Given the description of an element on the screen output the (x, y) to click on. 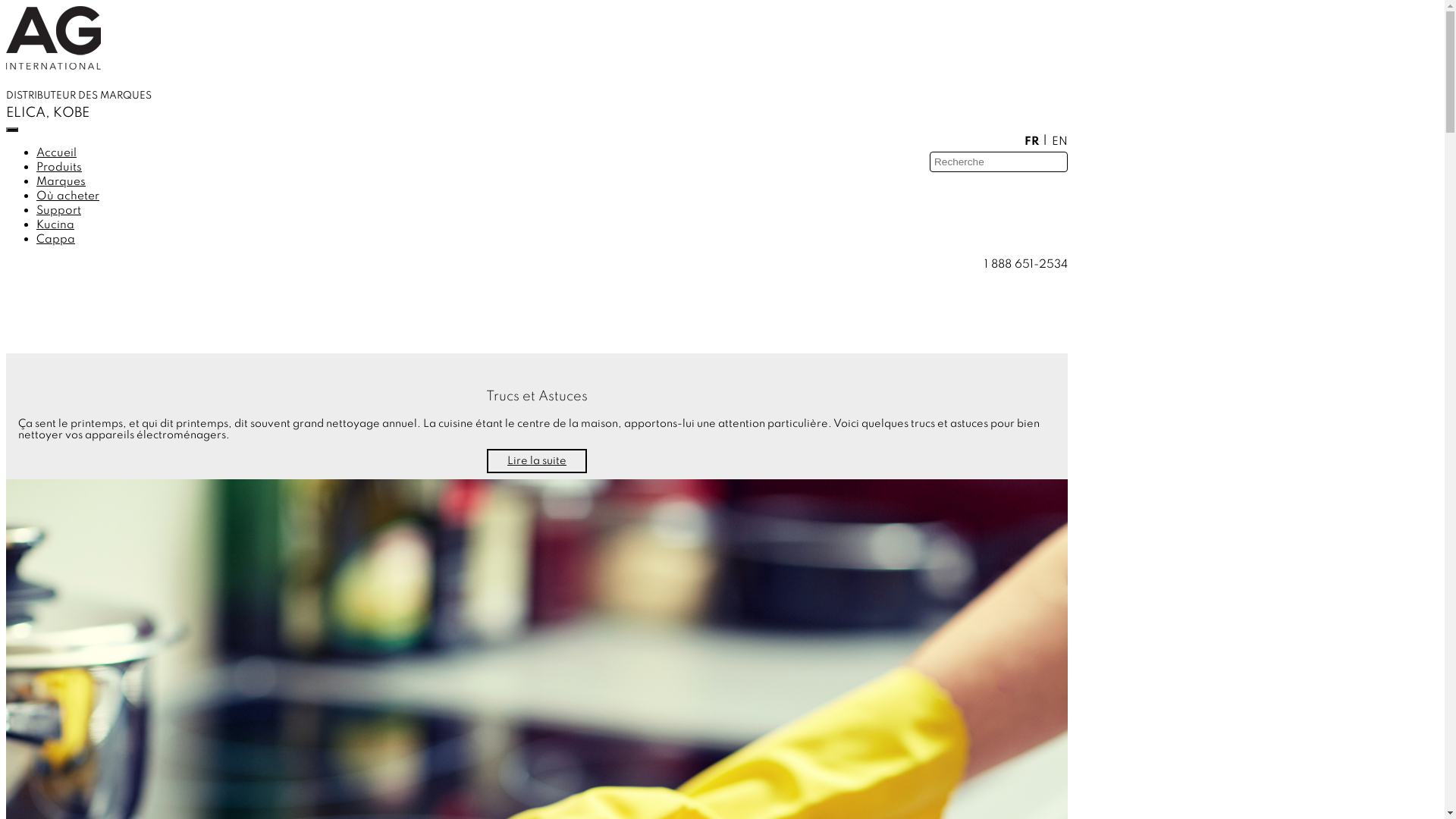
Marques Element type: text (69, 178)
Produits Element type: text (68, 164)
Lire la suite Element type: text (536, 460)
ELICA Element type: text (25, 112)
Kucina Element type: text (64, 222)
Support Element type: text (67, 207)
Cappa Element type: text (64, 236)
Accueil Element type: text (65, 150)
EN Element type: text (1059, 140)
A.G. International Element type: hover (53, 37)
KOBE Element type: text (71, 112)
